Given the description of an element on the screen output the (x, y) to click on. 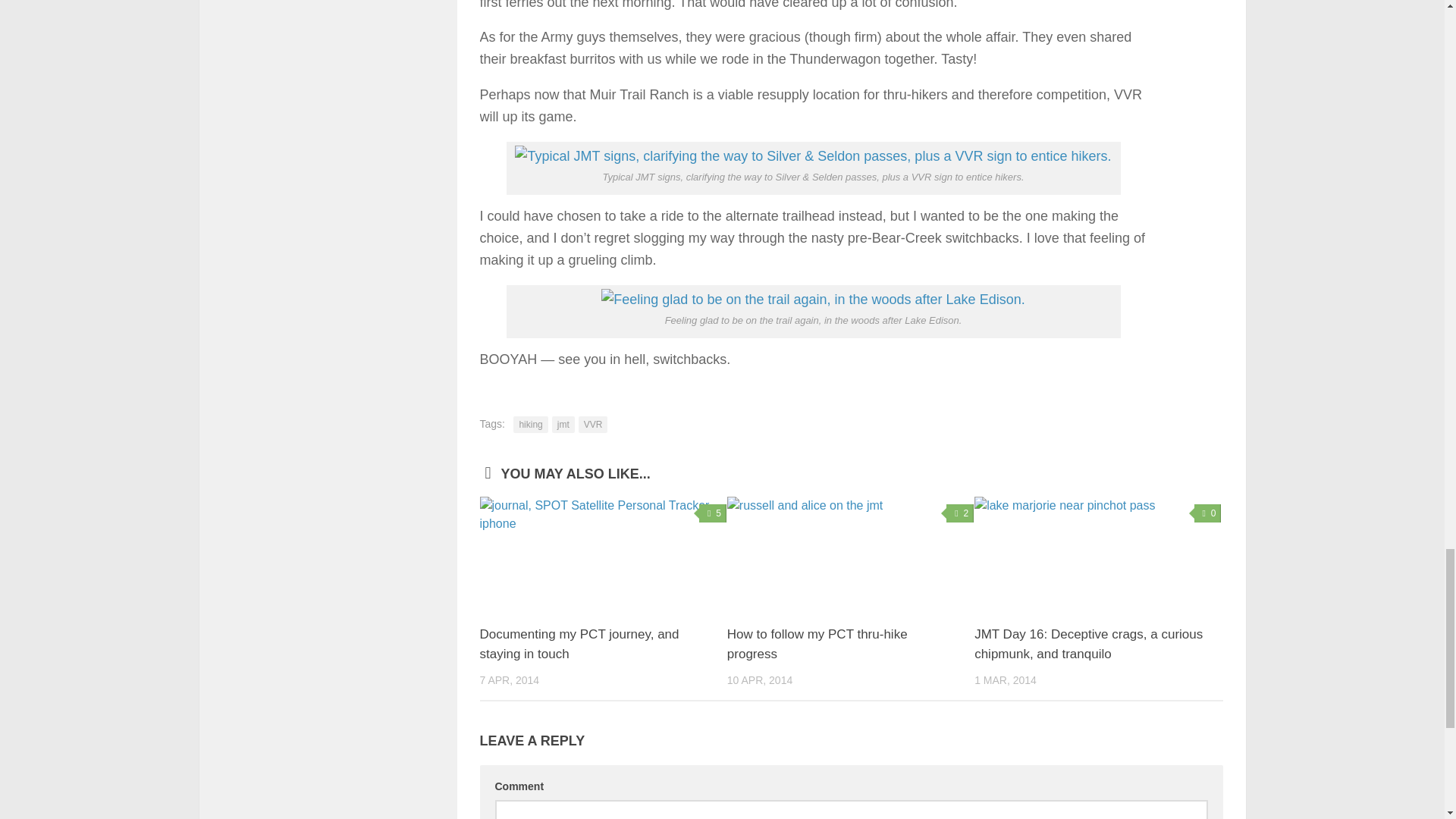
How to follow my PCT thru-hike progress (816, 643)
Documenting my PCT journey, and staying in touch (602, 554)
VVR (593, 424)
0 (1207, 513)
Documenting my PCT journey, and staying in touch (578, 643)
How to follow my PCT thru-hike progress (816, 643)
Documenting my PCT journey, and staying in touch (578, 643)
How to follow my PCT thru-hike progress (850, 554)
jmt (563, 424)
5 (712, 513)
2 (960, 513)
hiking (530, 424)
